Given the description of an element on the screen output the (x, y) to click on. 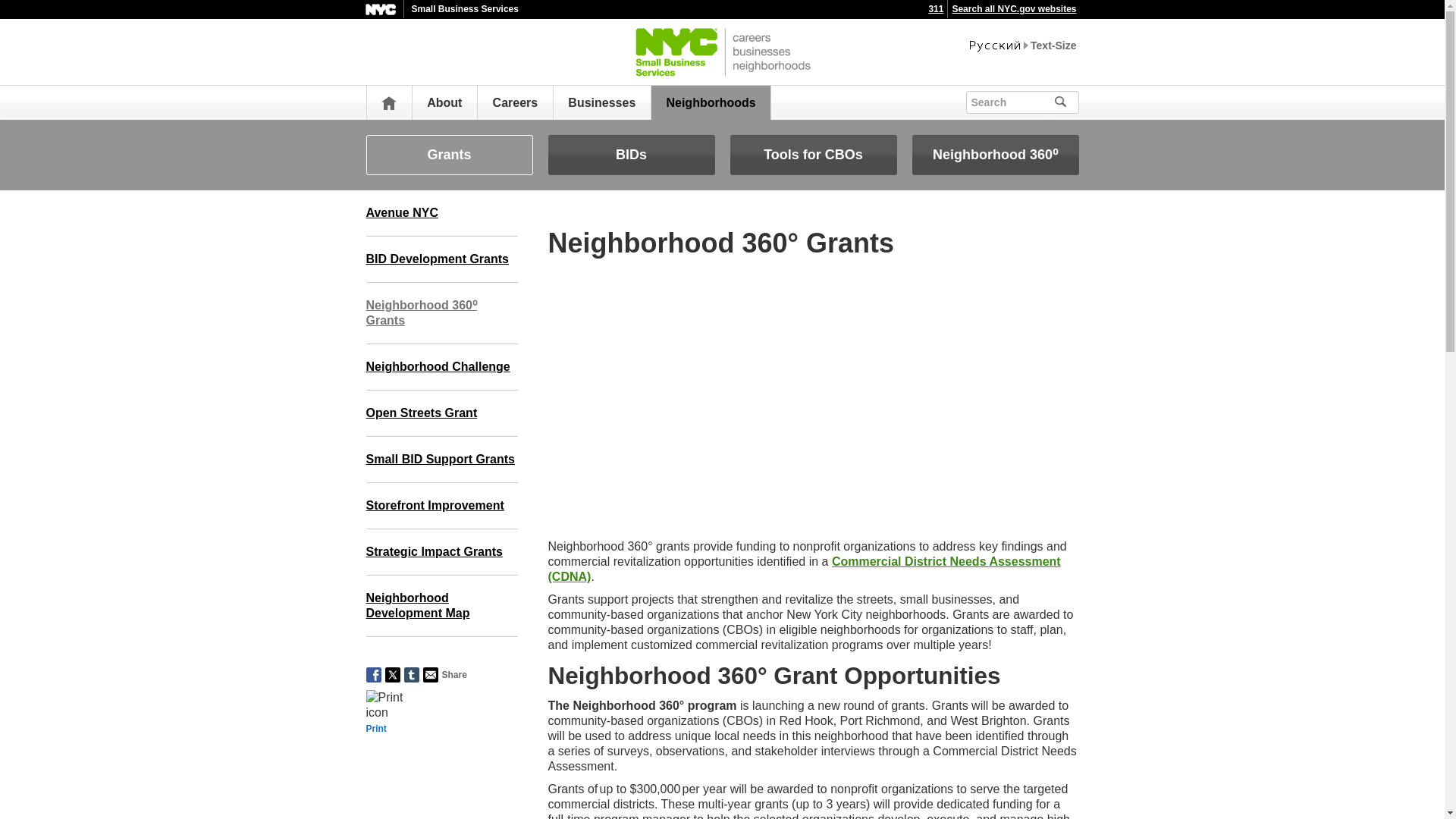
Neighborhood Challenge (440, 366)
Businesses (600, 102)
Avenue NYC (440, 213)
Small BID Support Grants (440, 459)
BID Development Grants (440, 259)
Text-Size (1052, 45)
311 (935, 9)
submit (1081, 100)
submit (1081, 100)
Strategic Impact Grants (440, 552)
